Given the description of an element on the screen output the (x, y) to click on. 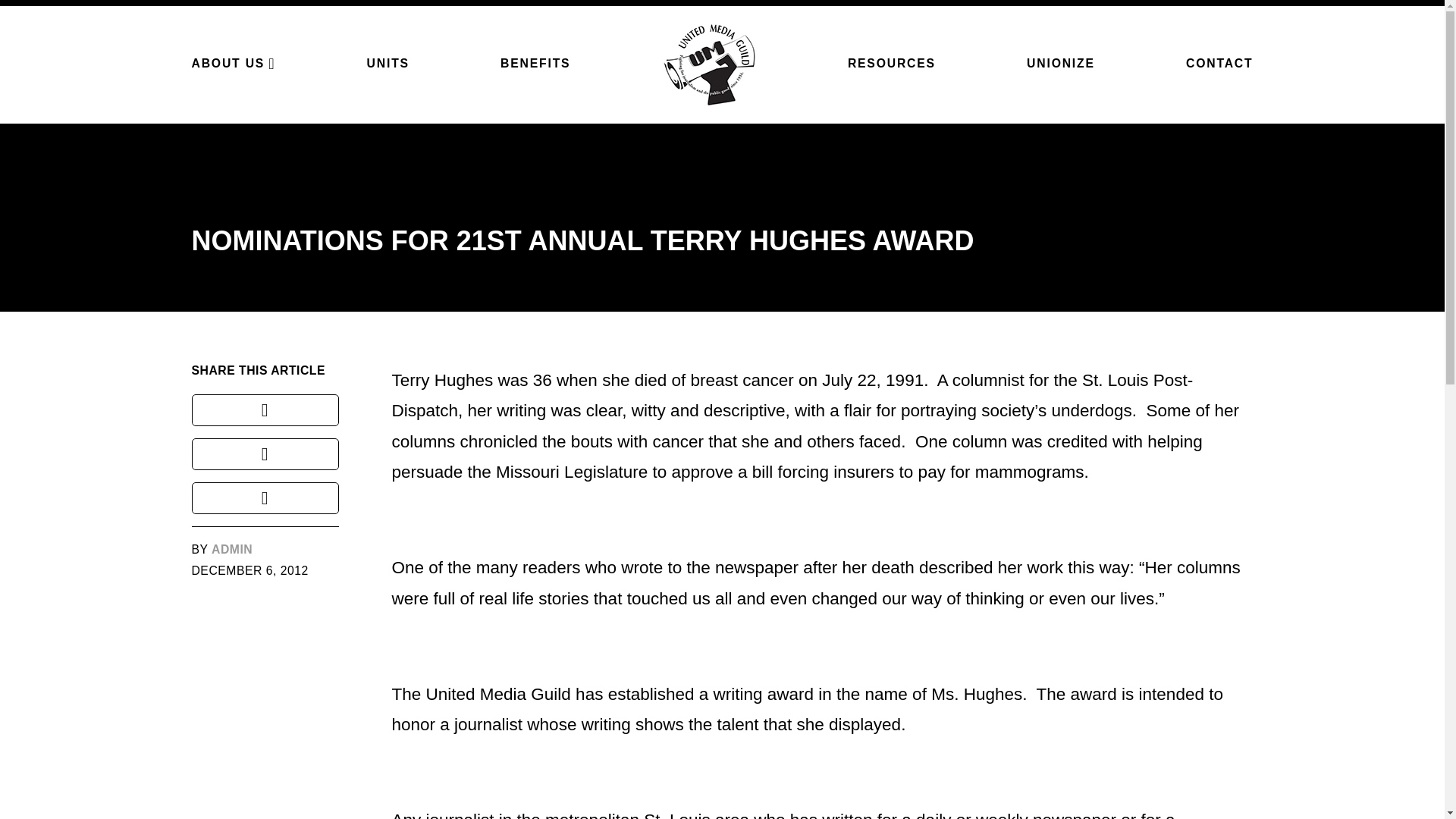
UNITS (387, 62)
ABOUT US (232, 63)
RESOURCES (891, 62)
ADMIN (231, 549)
BENEFITS (535, 62)
UNIONIZE (1060, 62)
CONTACT (1219, 62)
